Given the description of an element on the screen output the (x, y) to click on. 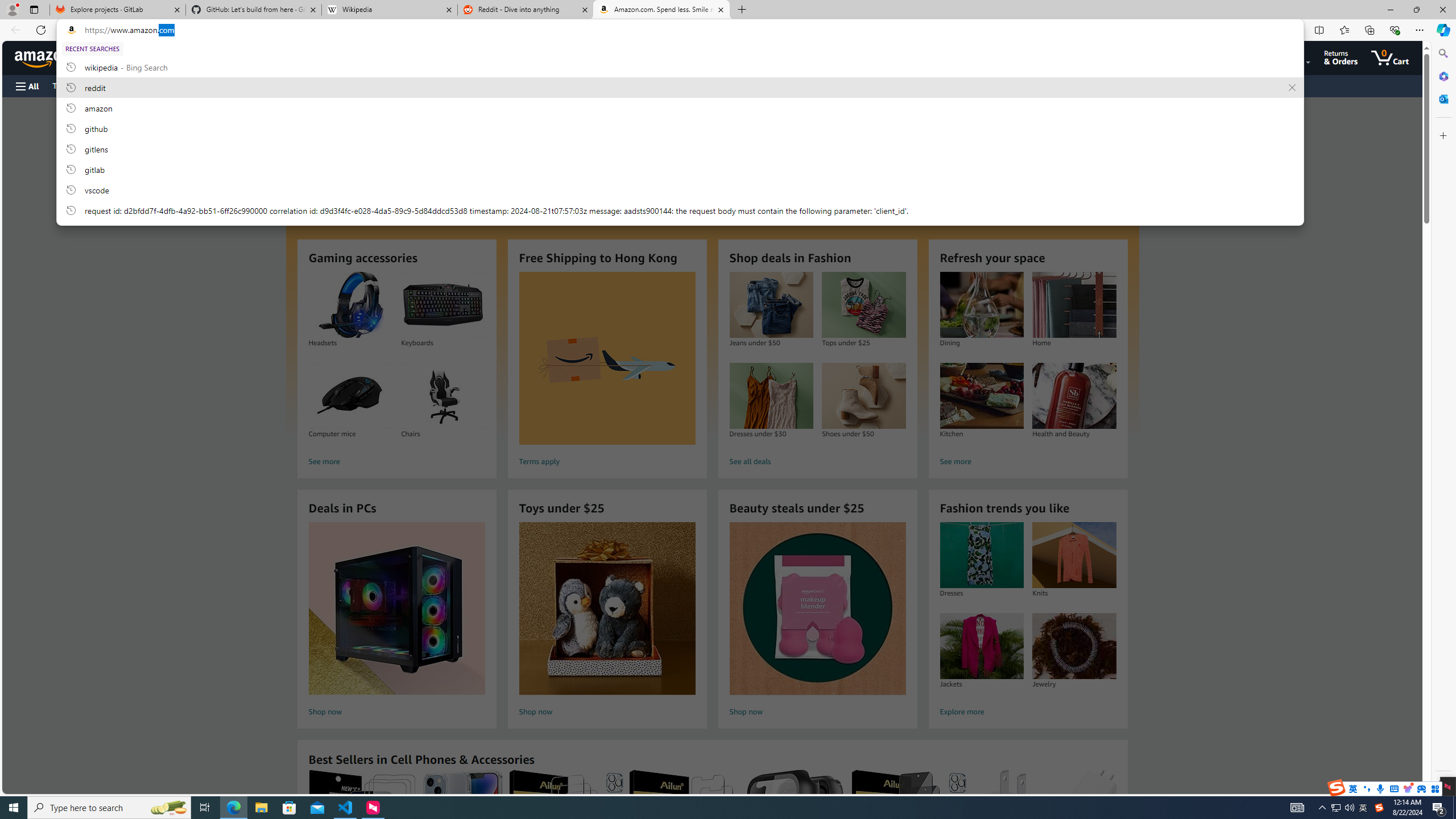
github, recent searches from history (679, 127)
0 items in cart (1389, 57)
Keyboards (443, 304)
Jewelry (1074, 645)
Customize (1442, 135)
Headsets (350, 304)
Jeans under $50 (770, 304)
Close Outlook pane (1442, 98)
Shoes under $50 (863, 395)
Returns & Orders (1340, 57)
Side bar (1443, 418)
Hello, sign in Account & Lists (1278, 57)
